Given the description of an element on the screen output the (x, y) to click on. 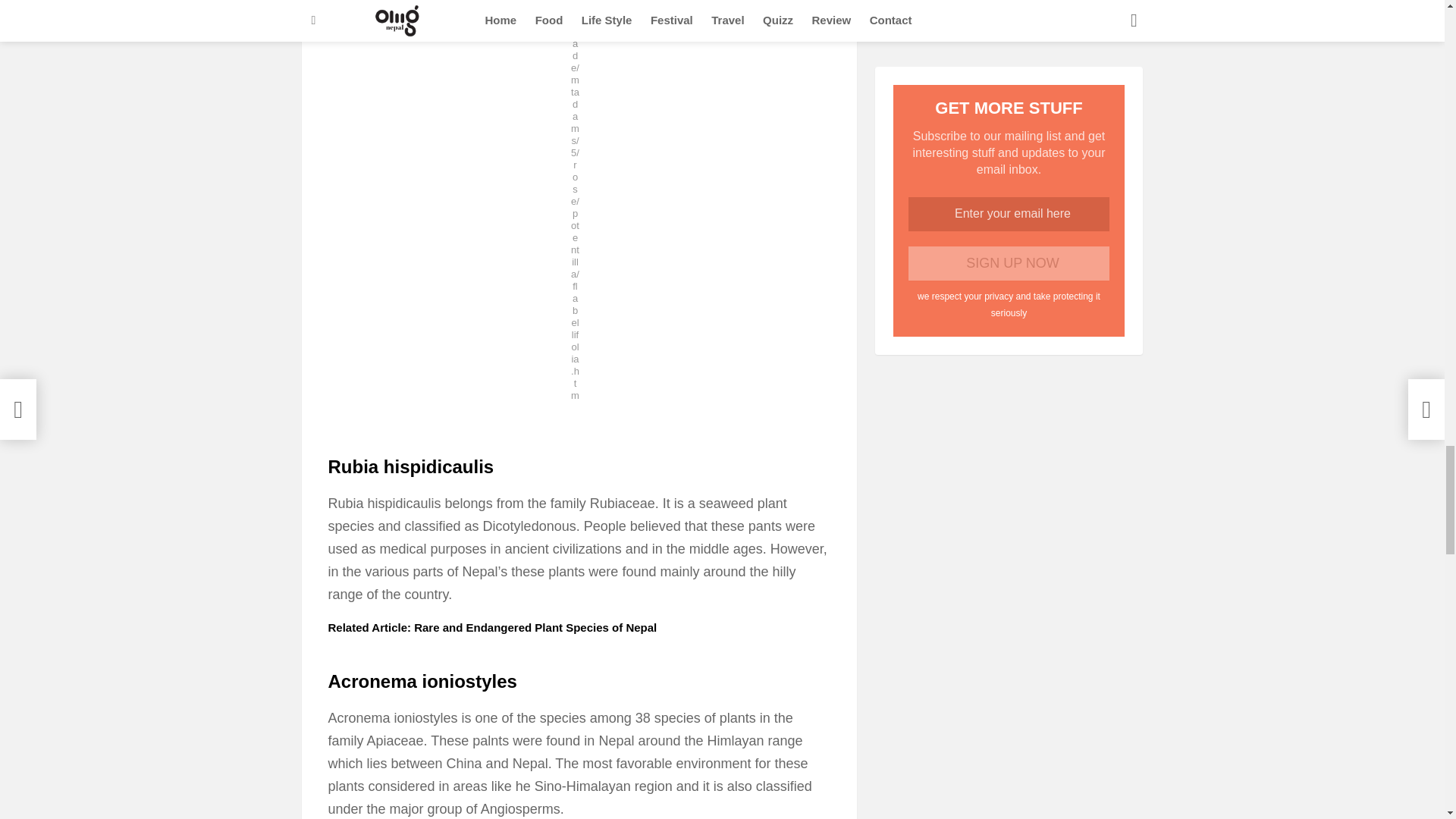
Rare and Endangered Plant Species of Nepal (534, 626)
